Given the description of an element on the screen output the (x, y) to click on. 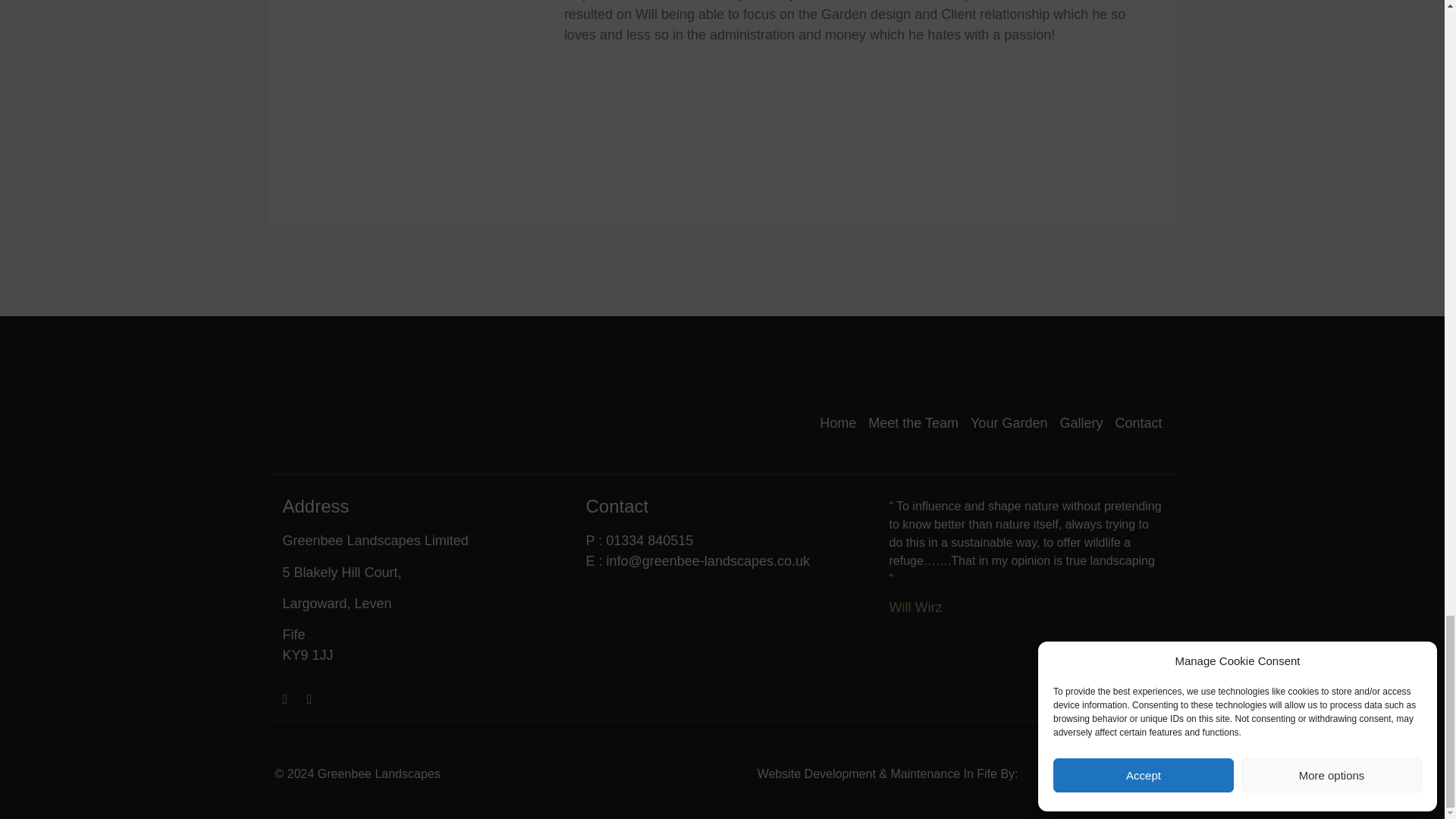
Meet the Team (912, 423)
Contact (1138, 423)
Gallery (1080, 423)
Your Garden (1008, 423)
Home (837, 423)
